Given the description of an element on the screen output the (x, y) to click on. 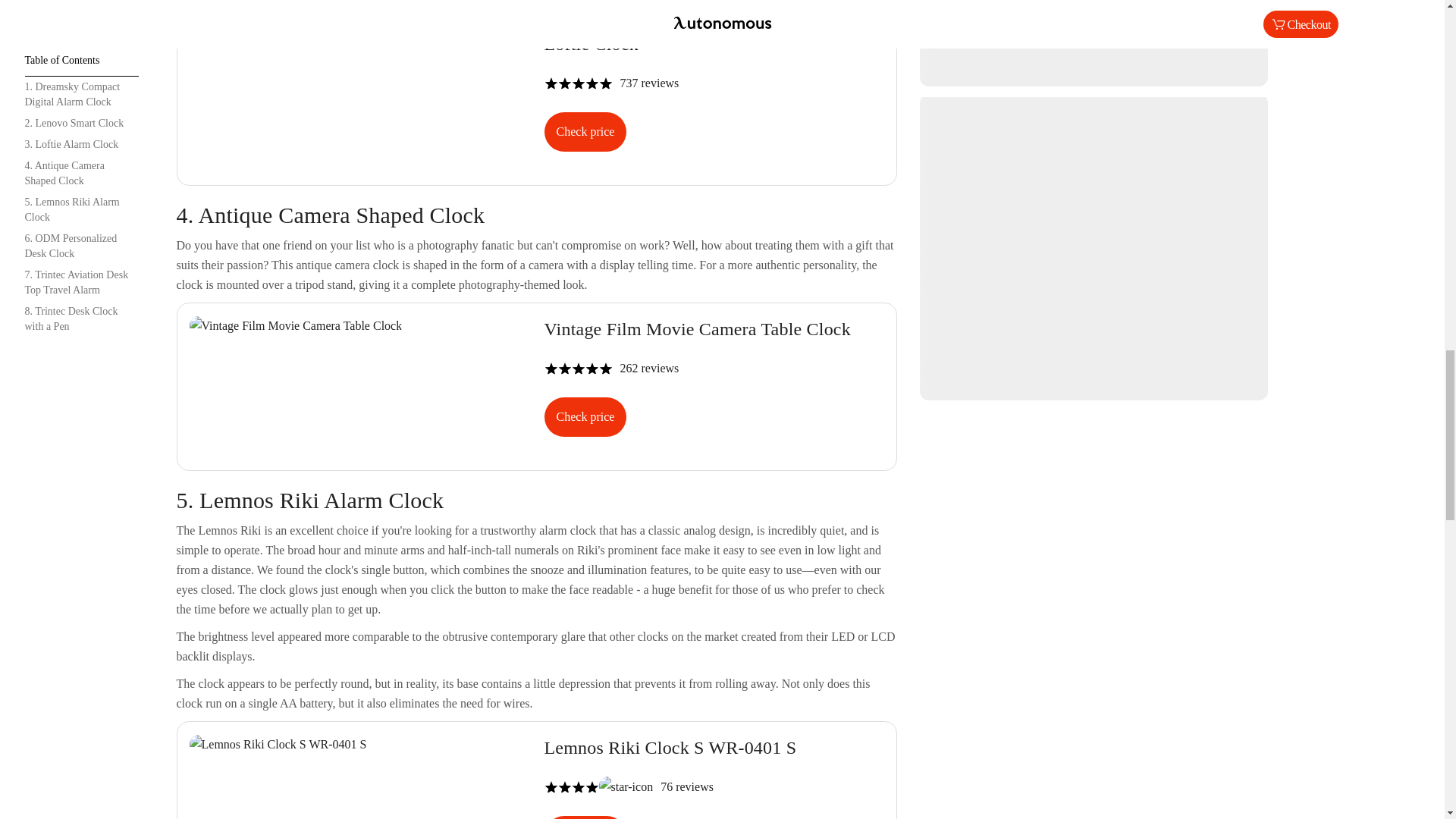
Check price (585, 416)
Check price (536, 776)
Vintage Film Movie Camera Table Clock (585, 817)
Check price (536, 99)
Loftie Clock (536, 384)
Lemnos Riki Clock S WR-0401 S (585, 131)
